Given the description of an element on the screen output the (x, y) to click on. 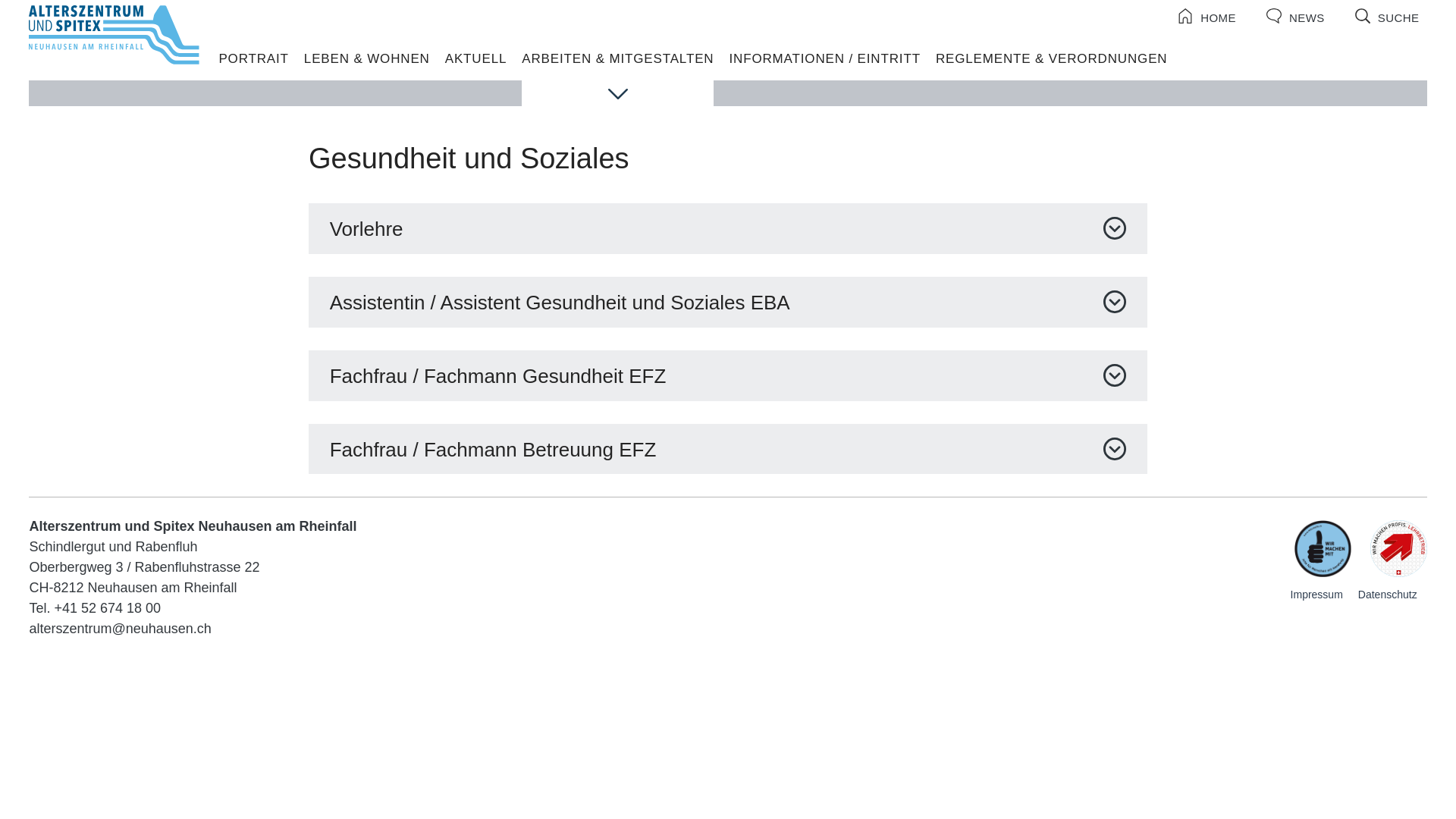
SUCHE Element type: text (1387, 15)
alterszentrum@neuhausen.ch Element type: text (119, 628)
Fachfrau / Fachmann Betreuung EFZ Element type: text (727, 448)
Assistentin / Assistent Gesundheit und Soziales EBA Element type: text (727, 301)
NEWS Element type: text (1295, 15)
AKTUELL Element type: text (476, 59)
HOME Element type: text (1206, 15)
Datenschutz Element type: text (1387, 594)
Impressum Element type: text (1316, 594)
INFORMATIONEN / EINTRITT Element type: text (823, 59)
LEBEN & WOHNEN Element type: text (366, 59)
Fachfrau / Fachmann Gesundheit EFZ Element type: text (727, 375)
REGLEMENTE & VERORDNUNGEN Element type: text (1051, 59)
ARBEITEN & MITGESTALTEN Element type: text (617, 77)
PORTRAIT Element type: text (253, 59)
Vorlehre Element type: text (727, 227)
